Given the description of an element on the screen output the (x, y) to click on. 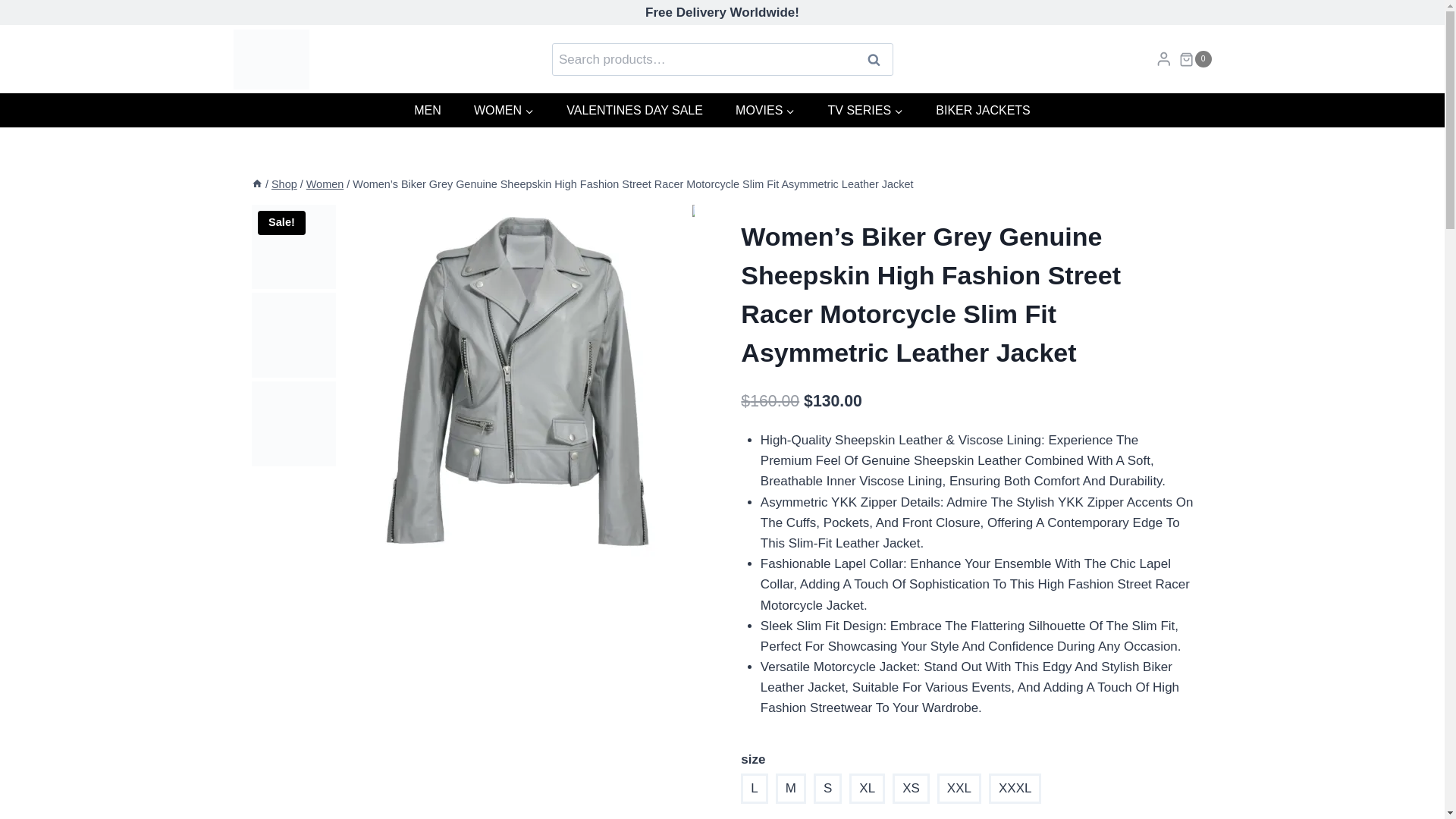
TV SERIES (865, 110)
3-25.jpg (869, 380)
Shop (283, 184)
VALENTINES DAY SALE (634, 110)
1-48.jpg (516, 380)
Search (874, 59)
MEN (427, 110)
Women (324, 184)
0 (1195, 58)
MOVIES (764, 110)
